Given the description of an element on the screen output the (x, y) to click on. 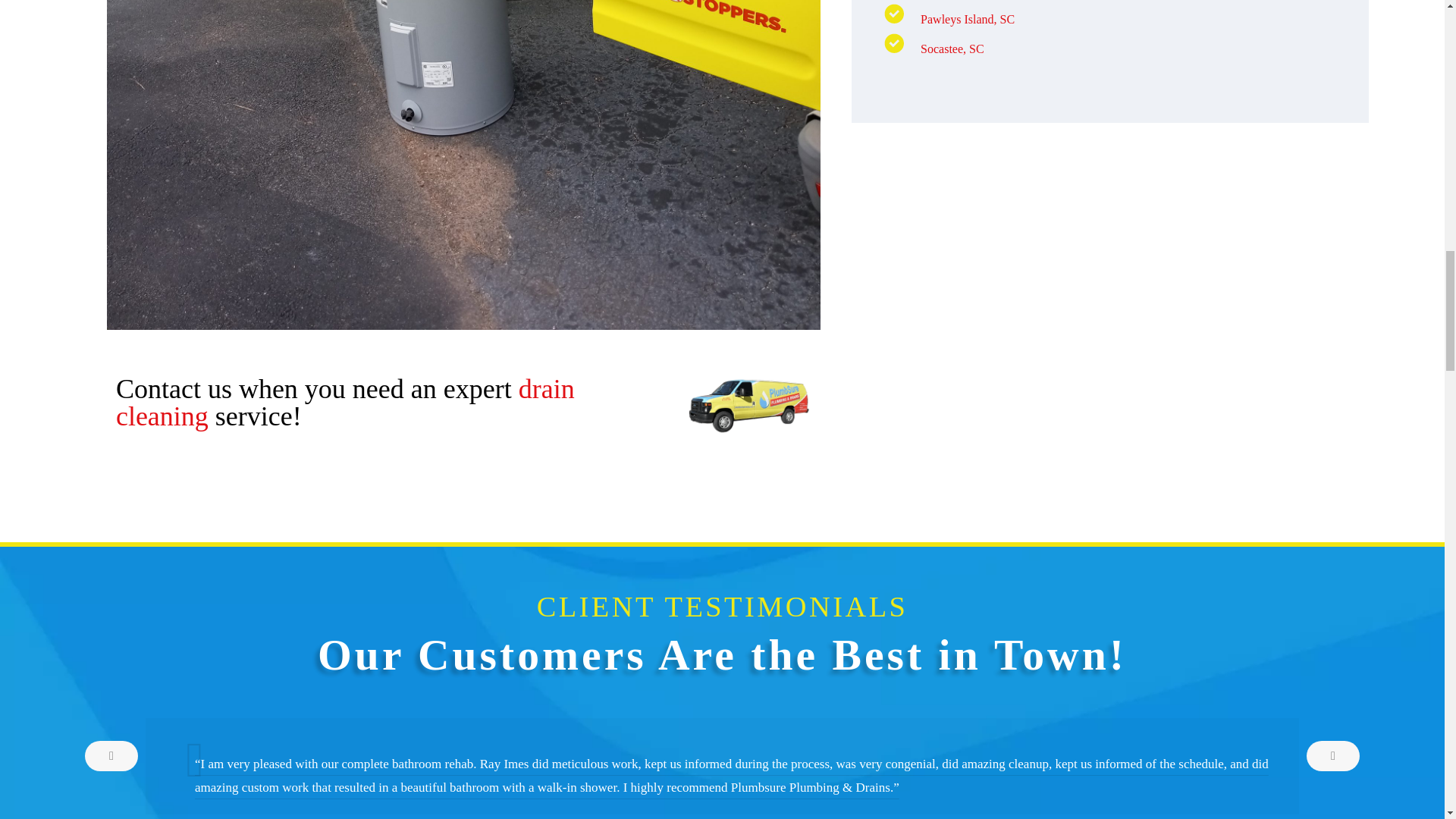
drain cleaning (345, 402)
Pawleys Island, SC (967, 19)
Socastee, SC (952, 48)
